Given the description of an element on the screen output the (x, y) to click on. 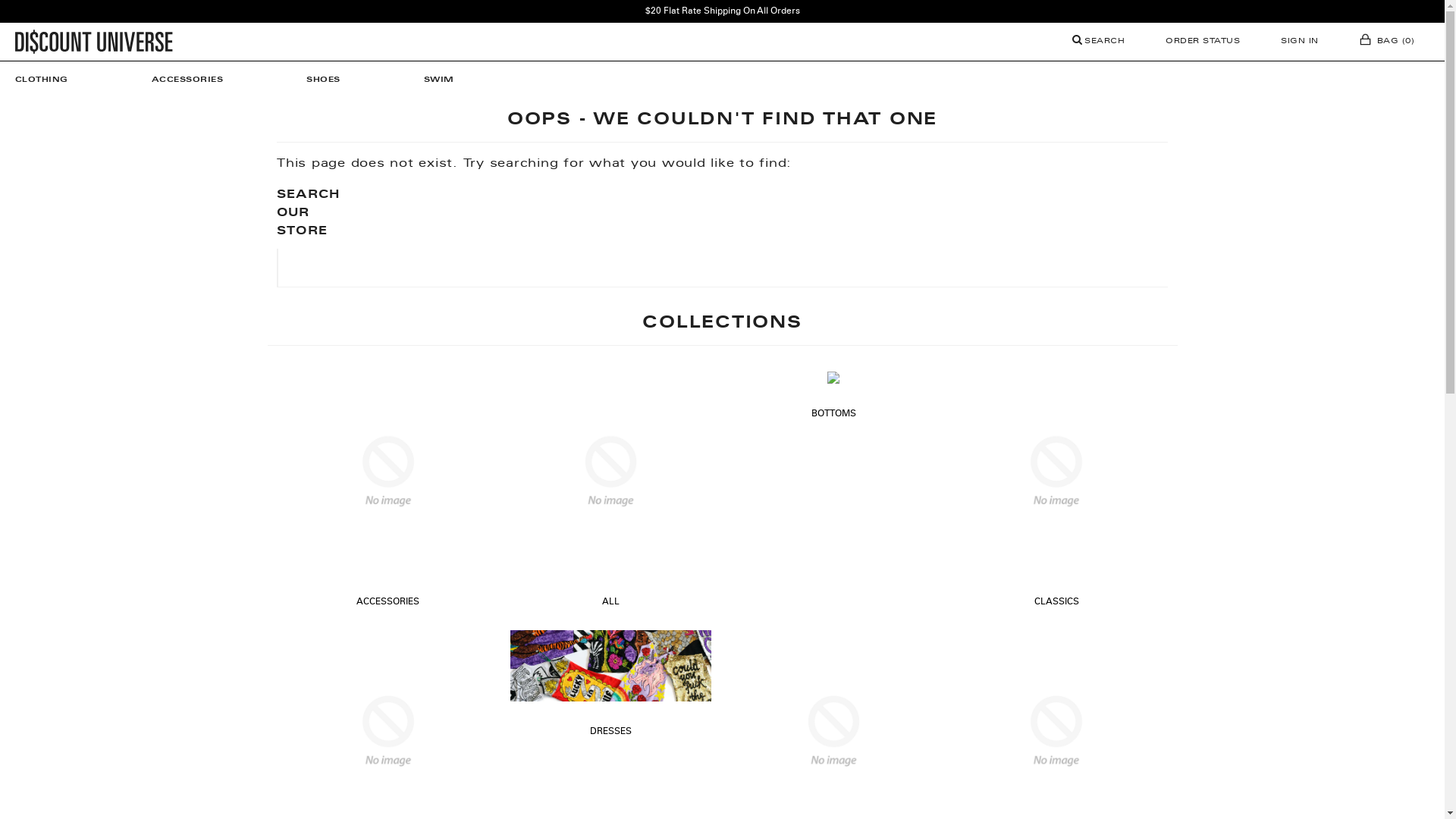
SWIM Element type: text (438, 80)
CLASSICS Element type: text (1056, 601)
SIGN IN Element type: text (1299, 41)
BAG (0) Element type: text (1386, 41)
ACCESSORIES Element type: text (387, 601)
SHOES Element type: text (323, 80)
CLOTHING Element type: text (49, 80)
DRESSES Element type: text (610, 731)
SEARCH Element type: text (1098, 41)
ACCESSORIES Element type: text (187, 80)
BOTTOMS Element type: text (833, 413)
ALL Element type: text (610, 601)
ORDER STATUS Element type: text (1202, 41)
